Given the description of an element on the screen output the (x, y) to click on. 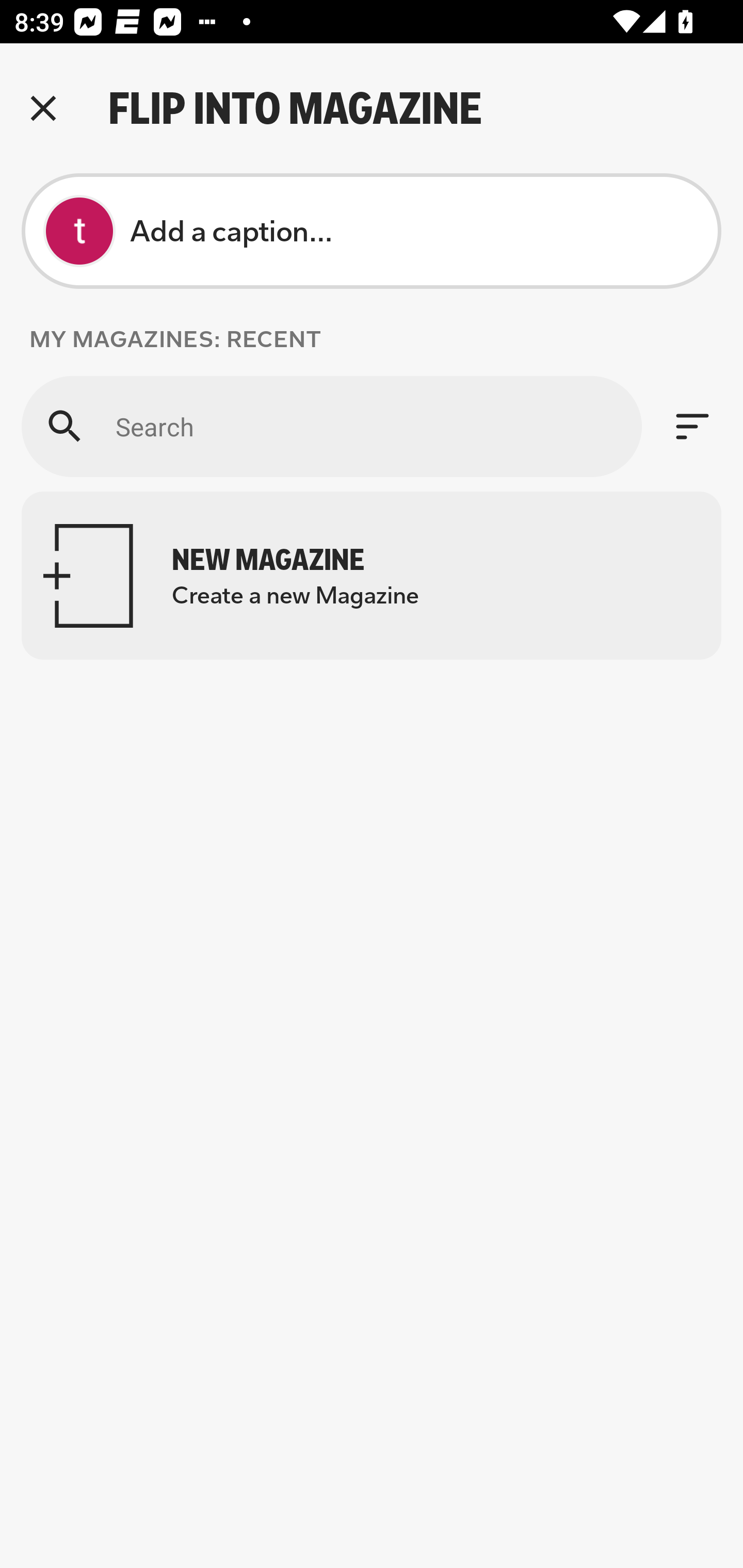
test appium Add a caption… (371, 231)
Search (331, 426)
NEW MAGAZINE Create a new Magazine (371, 575)
